Given the description of an element on the screen output the (x, y) to click on. 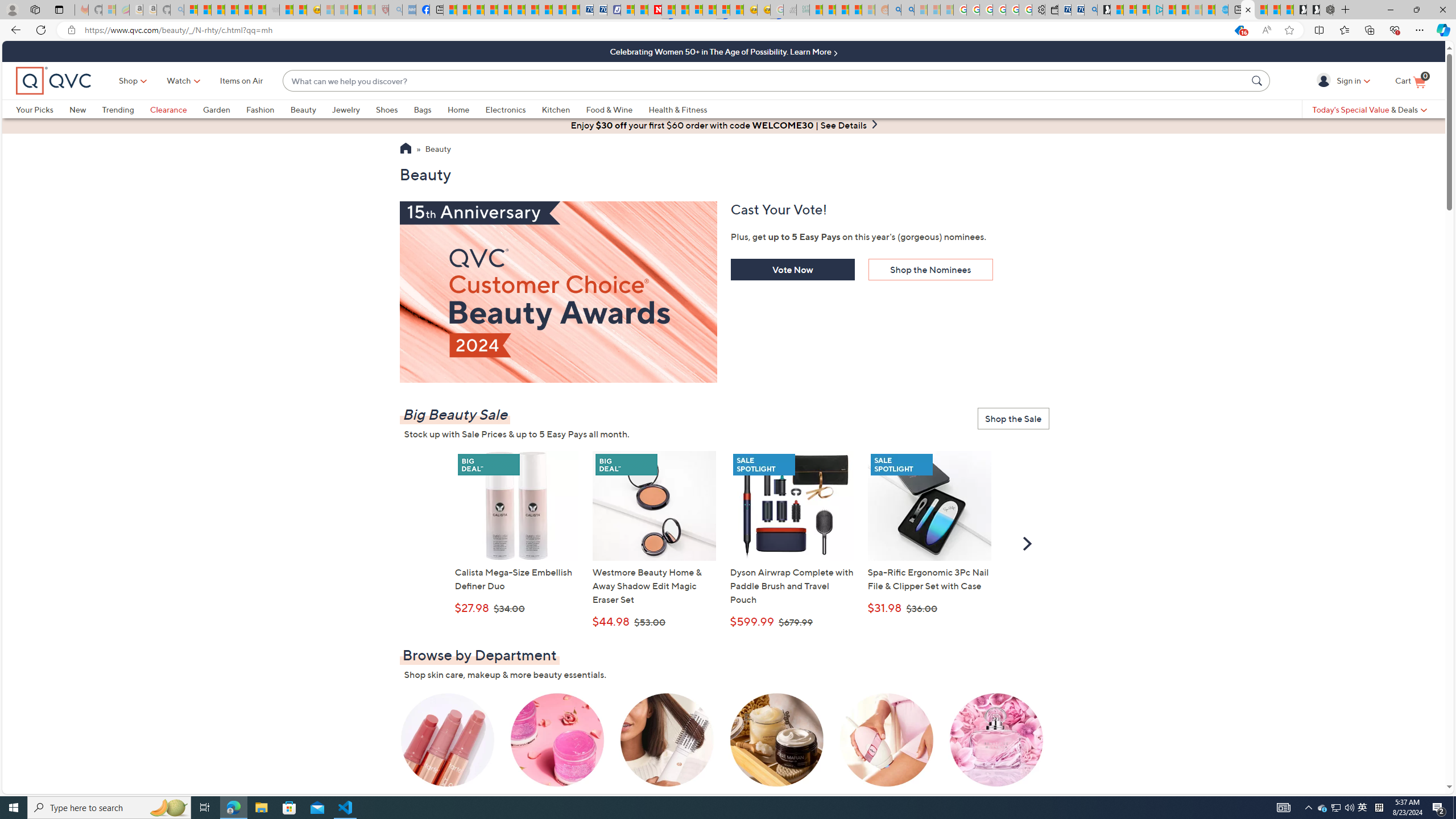
This site has coupons! Shopping in Microsoft Edge, 16 (1239, 29)
Cart is Empty  (1409, 81)
Robert H. Shmerling, MD - Harvard Health - Sleeping (381, 9)
Clearance (175, 109)
Garden (216, 109)
QVC home (53, 80)
